Given the description of an element on the screen output the (x, y) to click on. 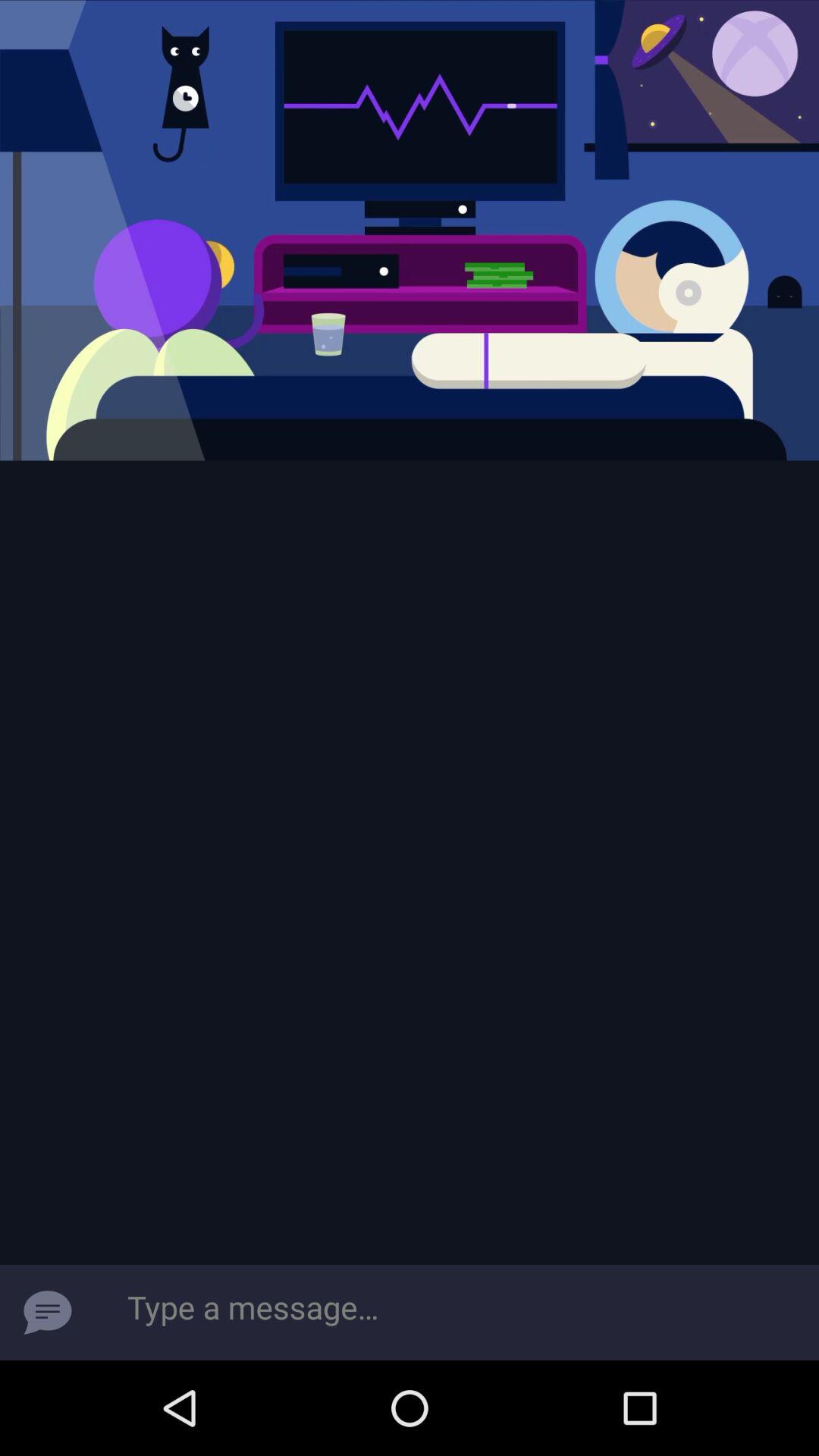
select the icon at the bottom left corner (47, 1312)
